Given the description of an element on the screen output the (x, y) to click on. 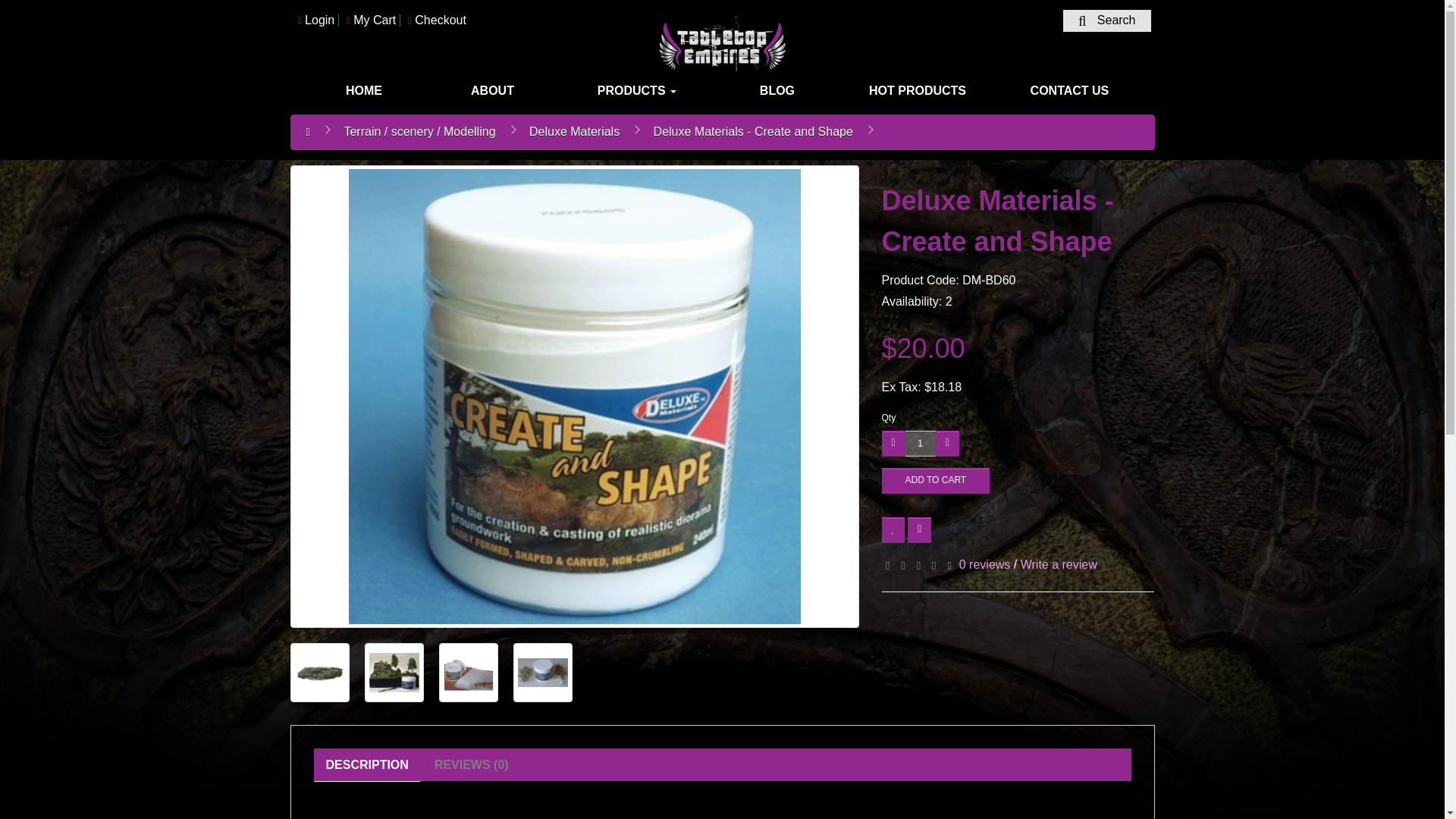
Deluxe Materials - Create and Shape (318, 672)
My Cart (371, 19)
Deluxe Materials - Create and Shape (319, 671)
Deluxe Materials - Create and Shape (393, 672)
1 (920, 443)
ABOUT (492, 90)
Deluxe Materials - Create and Shape (393, 671)
Deluxe Materials - Create and Shape (542, 671)
Table Top Empires (722, 45)
Shopping Cart (371, 19)
HOME (363, 90)
Checkout (436, 19)
Login (315, 19)
